Given the description of an element on the screen output the (x, y) to click on. 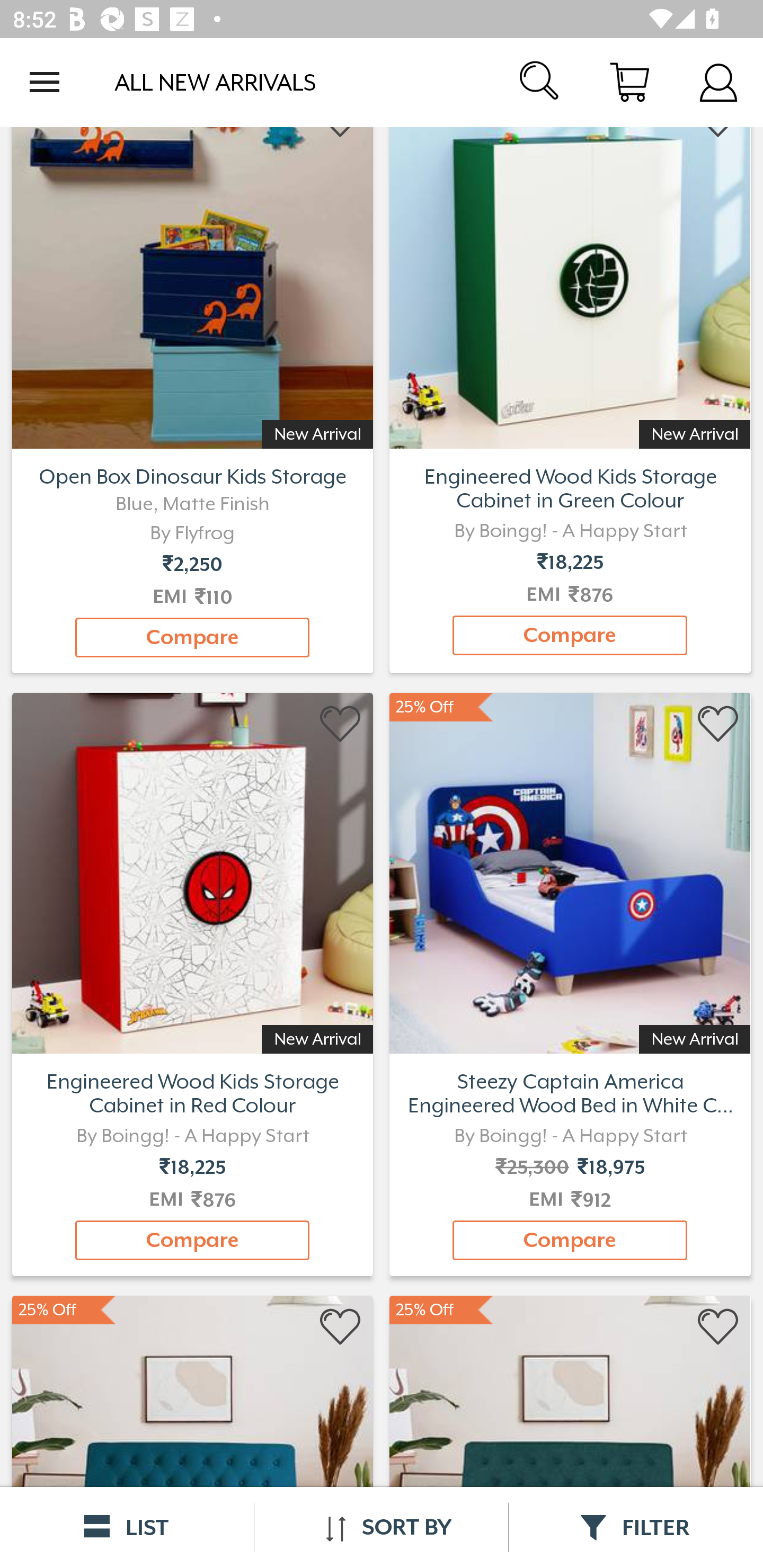
Open navigation drawer (44, 82)
Search (540, 81)
Cart (629, 81)
Account Details (718, 81)
Compare (569, 635)
Compare (192, 636)
 (341, 724)
 (718, 724)
Compare (192, 1239)
Compare (569, 1239)
 (341, 1327)
 (718, 1327)
 LIST (127, 1527)
SORT BY (381, 1527)
 FILTER (635, 1527)
